Given the description of an element on the screen output the (x, y) to click on. 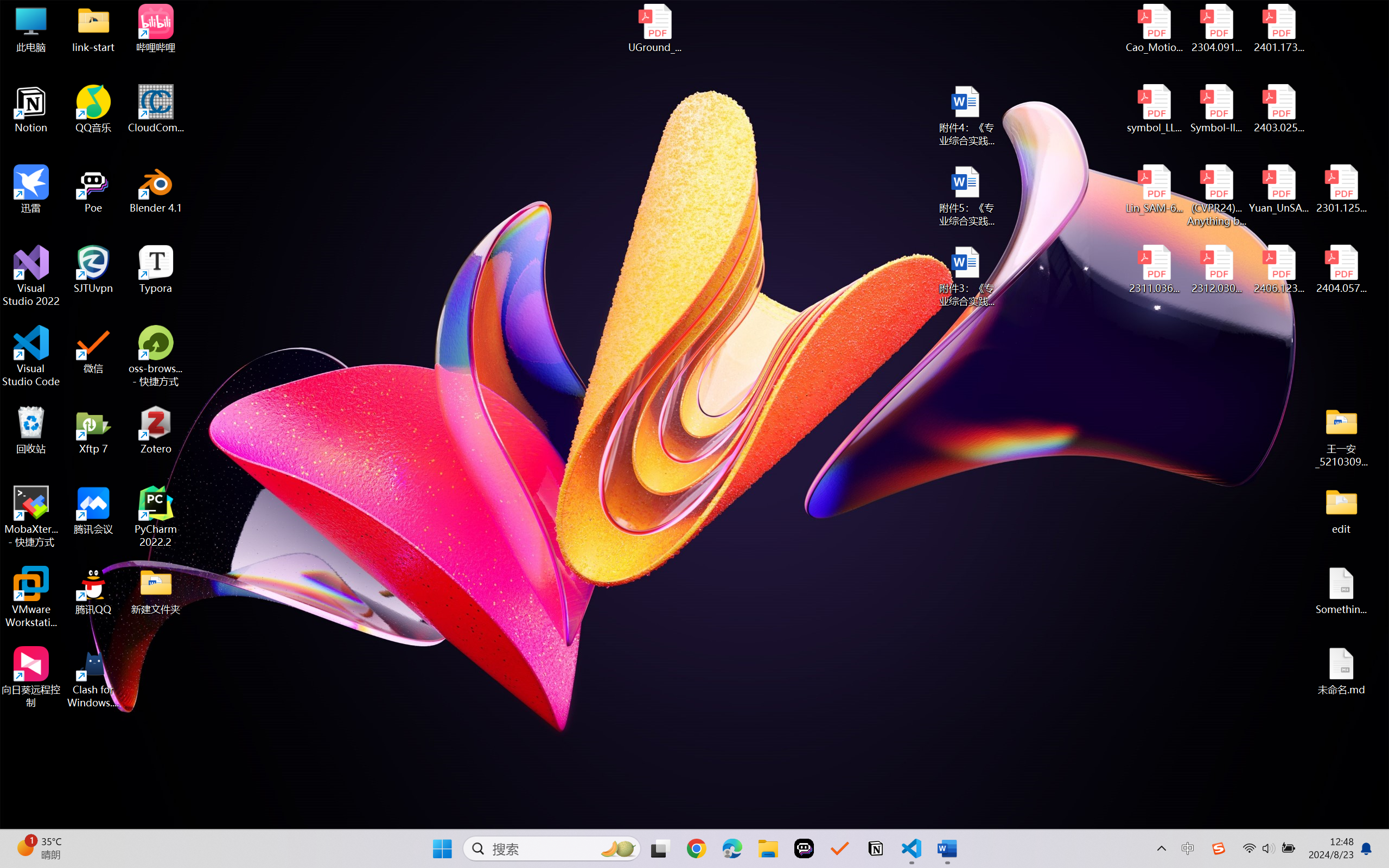
2304.09121v3.pdf (1216, 28)
PyCharm 2022.2 (156, 516)
Microsoft Edge (731, 848)
Visual Studio 2022 (31, 276)
VMware Workstation Pro (31, 597)
